Given the description of an element on the screen output the (x, y) to click on. 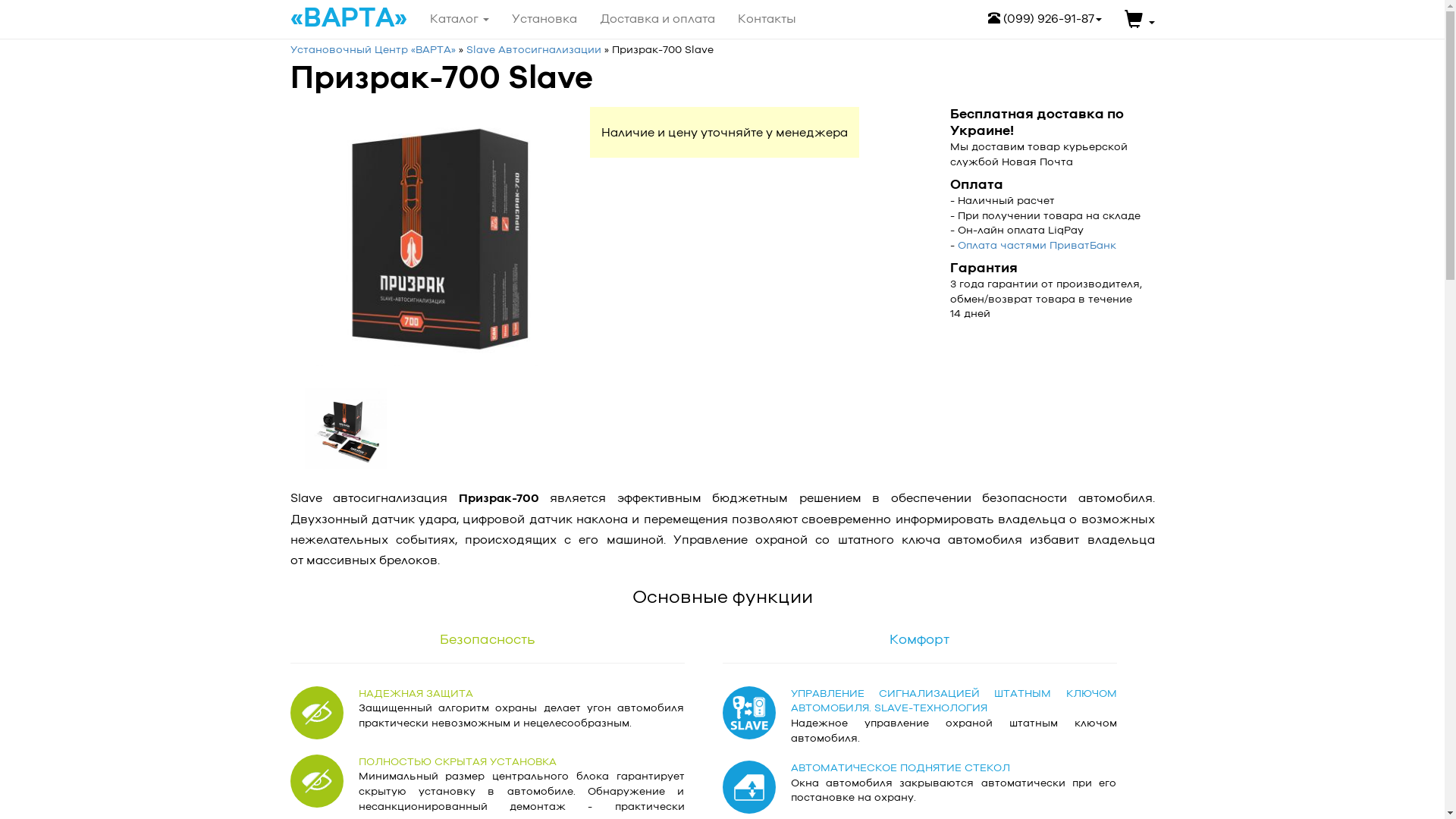
(099) 926-91-87 Element type: text (1044, 18)
